Given the description of an element on the screen output the (x, y) to click on. 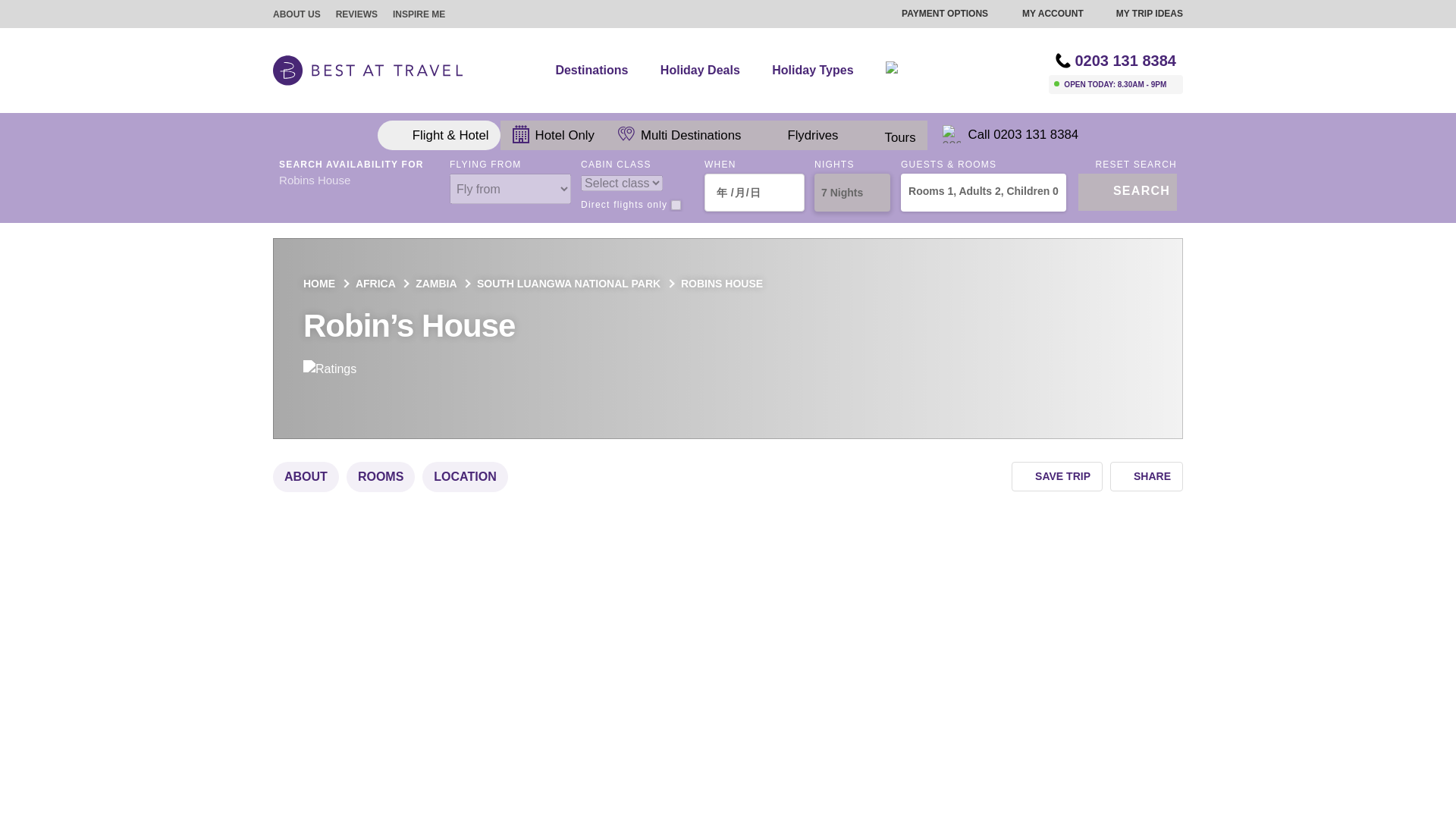
Holiday Types (819, 70)
ATOL Protected (1014, 70)
ABOUT US (296, 14)
REVIEWS (356, 14)
PAYMENT OPTIONS (935, 13)
Best at Travel (368, 70)
true (676, 204)
MY TRIP IDEAS (1140, 13)
Holiday Deals (707, 70)
MY ACCOUNT (1043, 13)
Destinations (598, 70)
INSPIRE ME (419, 14)
